Given the description of an element on the screen output the (x, y) to click on. 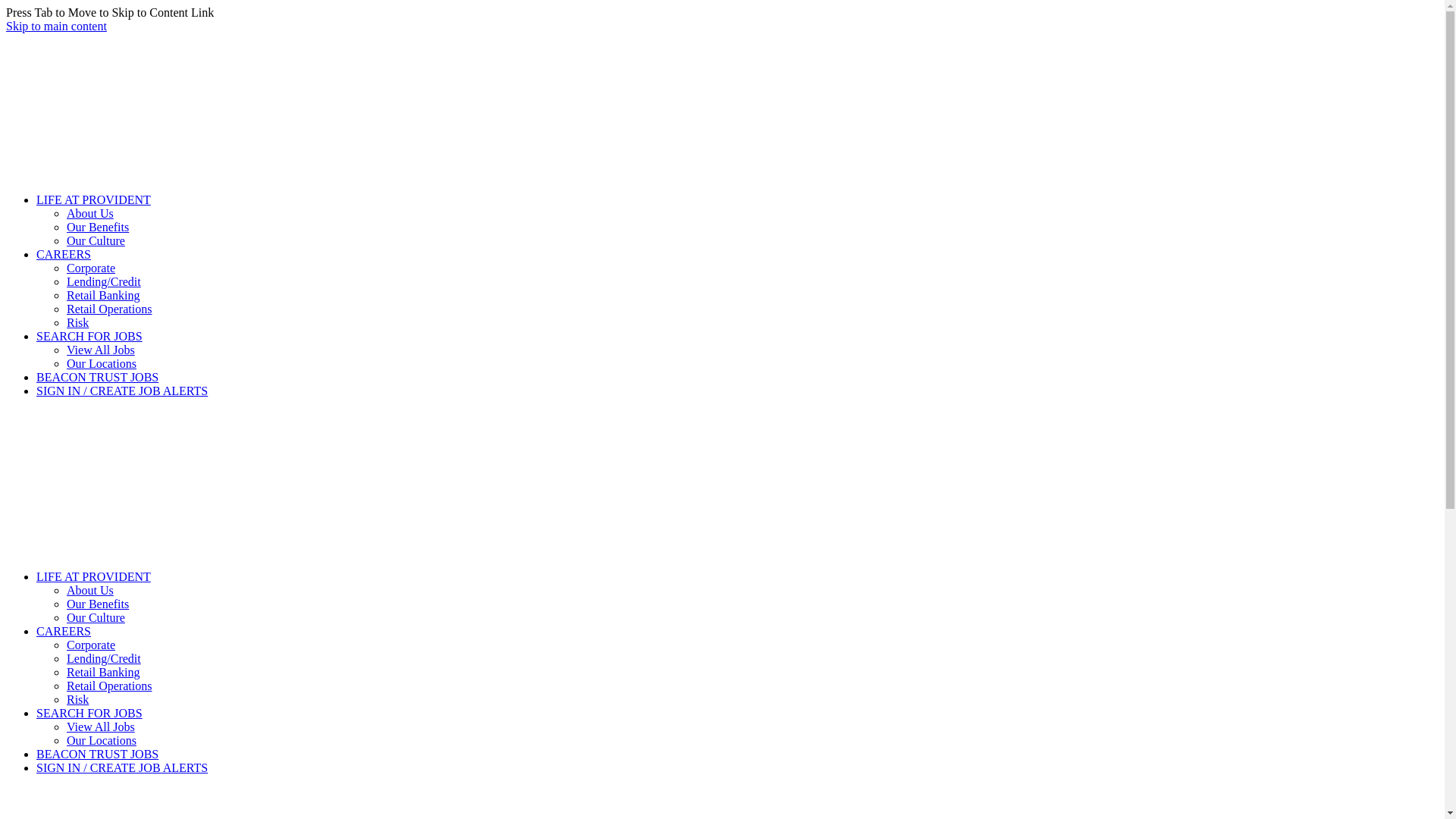
CAREERS Element type: text (63, 630)
Skip to main content Element type: text (56, 25)
Our Culture Element type: text (95, 240)
BEACON TRUST JOBS Element type: text (97, 753)
SIGN IN / CREATE JOB ALERTS Element type: text (121, 390)
About Us Element type: text (89, 589)
View All Jobs Element type: text (100, 349)
SEARCH FOR JOBS Element type: text (89, 712)
LIFE AT PROVIDENT Element type: text (93, 576)
Corporate Element type: text (90, 267)
Our Benefits Element type: text (97, 603)
BEACON TRUST JOBS Element type: text (97, 376)
Our Culture Element type: text (95, 617)
Retail Banking Element type: text (102, 671)
View All Jobs Element type: text (100, 726)
SEARCH FOR JOBS Element type: text (89, 335)
Retail Operations Element type: text (108, 308)
Lending/Credit Element type: text (103, 281)
Retail Banking Element type: text (102, 294)
Corporate Element type: text (90, 644)
Retail Operations Element type: text (108, 685)
Our Locations Element type: text (101, 363)
Lending/Credit Element type: text (103, 658)
About Us Element type: text (89, 213)
Risk Element type: text (77, 699)
SIGN IN / CREATE JOB ALERTS Element type: text (121, 767)
Our Locations Element type: text (101, 740)
CAREERS Element type: text (63, 253)
Risk Element type: text (77, 322)
LIFE AT PROVIDENT Element type: text (93, 199)
Our Benefits Element type: text (97, 226)
